Given the description of an element on the screen output the (x, y) to click on. 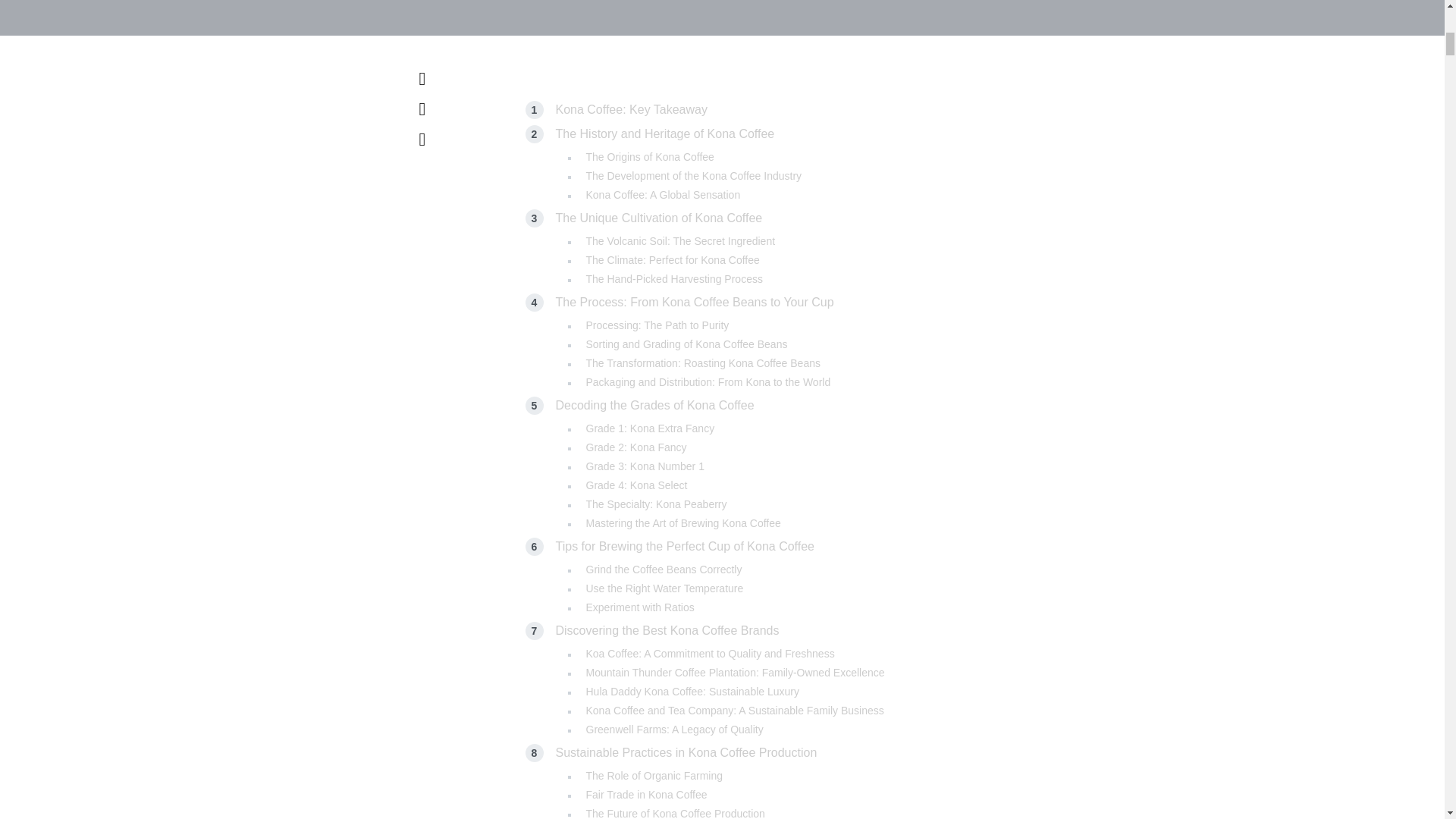
The History and Heritage of Kona Coffee (664, 133)
Processing: The Path to Purity (657, 324)
Kona Coffee: Key Takeaway (630, 109)
The Unique Cultivation of Kona Coffee (657, 216)
The Volcanic Soil: The Secret Ingredient (679, 241)
The Development of the Kona Coffee Industry (693, 175)
The Origins of Kona Coffee (649, 155)
The Climate: Perfect for Kona Coffee (671, 259)
Kona Coffee: A Global Sensation (662, 193)
The Transformation: Roasting Kona Coffee Beans (702, 362)
The Hand-Picked Harvesting Process (673, 278)
Sorting and Grading of Kona Coffee Beans (686, 344)
The Process: From Kona Coffee Beans to Your Cup (693, 301)
